Given the description of an element on the screen output the (x, y) to click on. 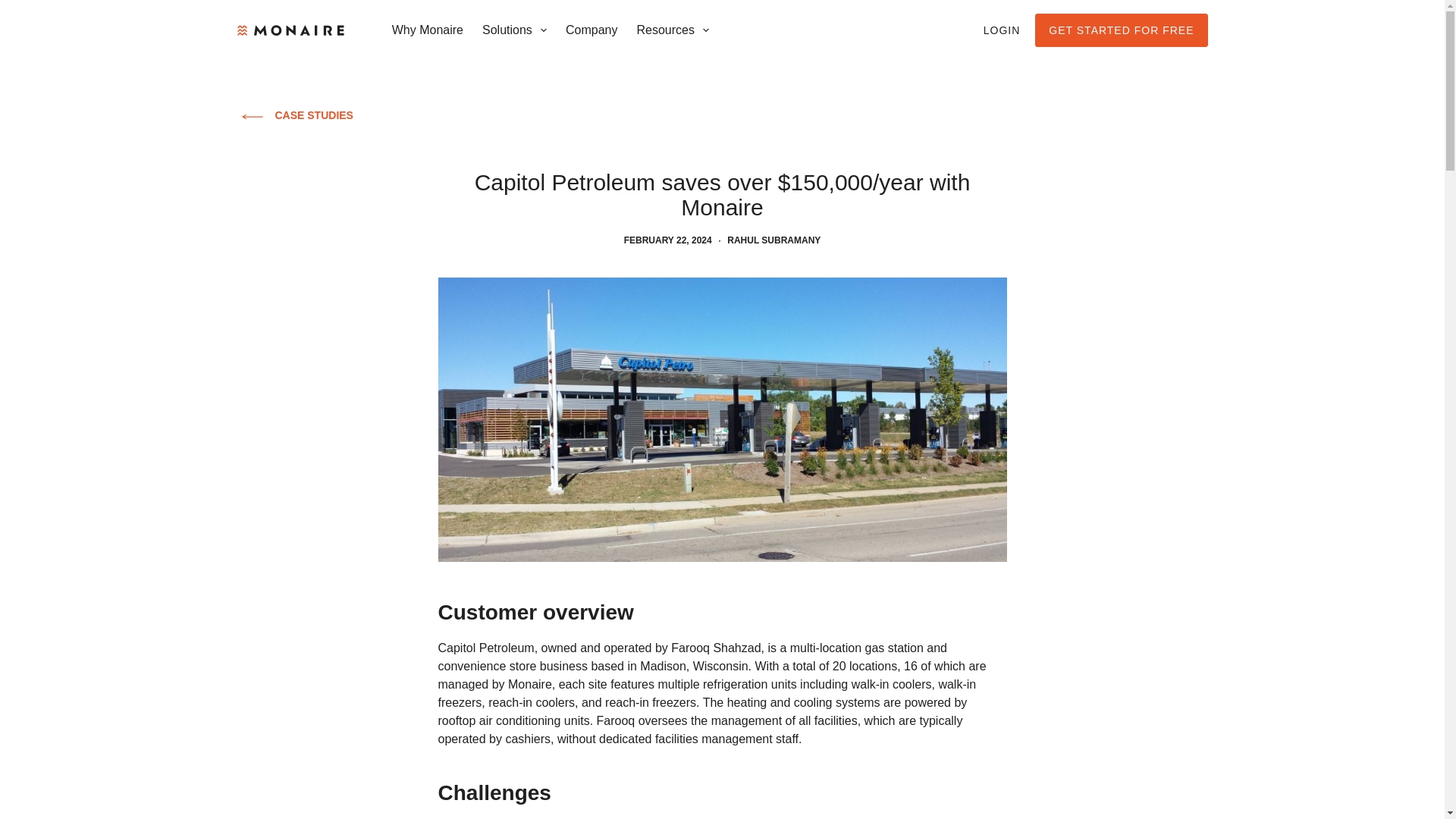
Company (591, 30)
Skip to content (15, 7)
Resources (673, 30)
Posts by Rahul Subramany (773, 240)
RAHUL SUBRAMANY (773, 240)
LOGIN (1002, 29)
Solutions (514, 30)
GET STARTED FOR FREE (1121, 29)
Why Monaire (426, 30)
CASE STUDIES (293, 114)
